Given the description of an element on the screen output the (x, y) to click on. 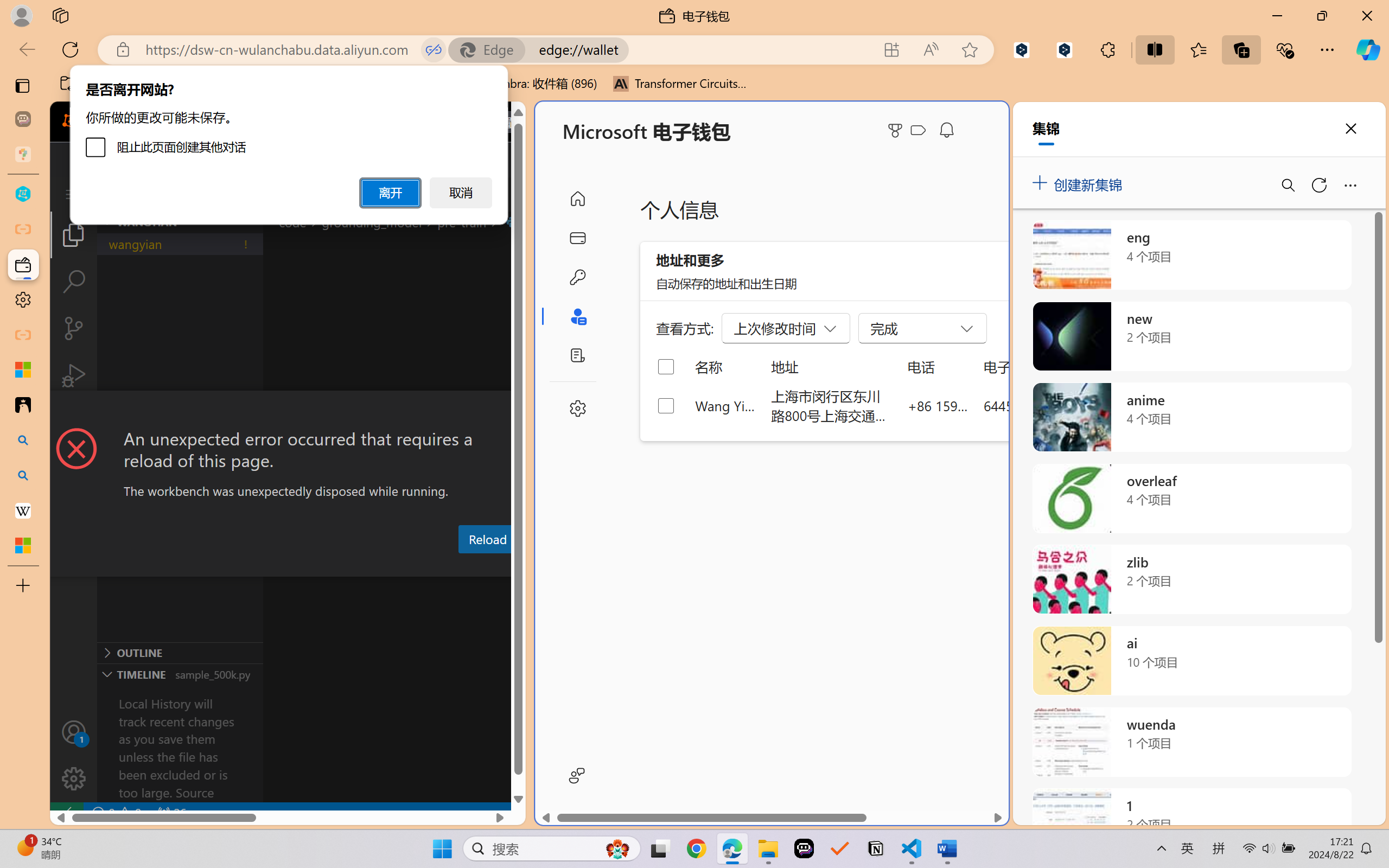
Transformer Circuits Thread (680, 83)
Class: actions-container (287, 410)
